Given the description of an element on the screen output the (x, y) to click on. 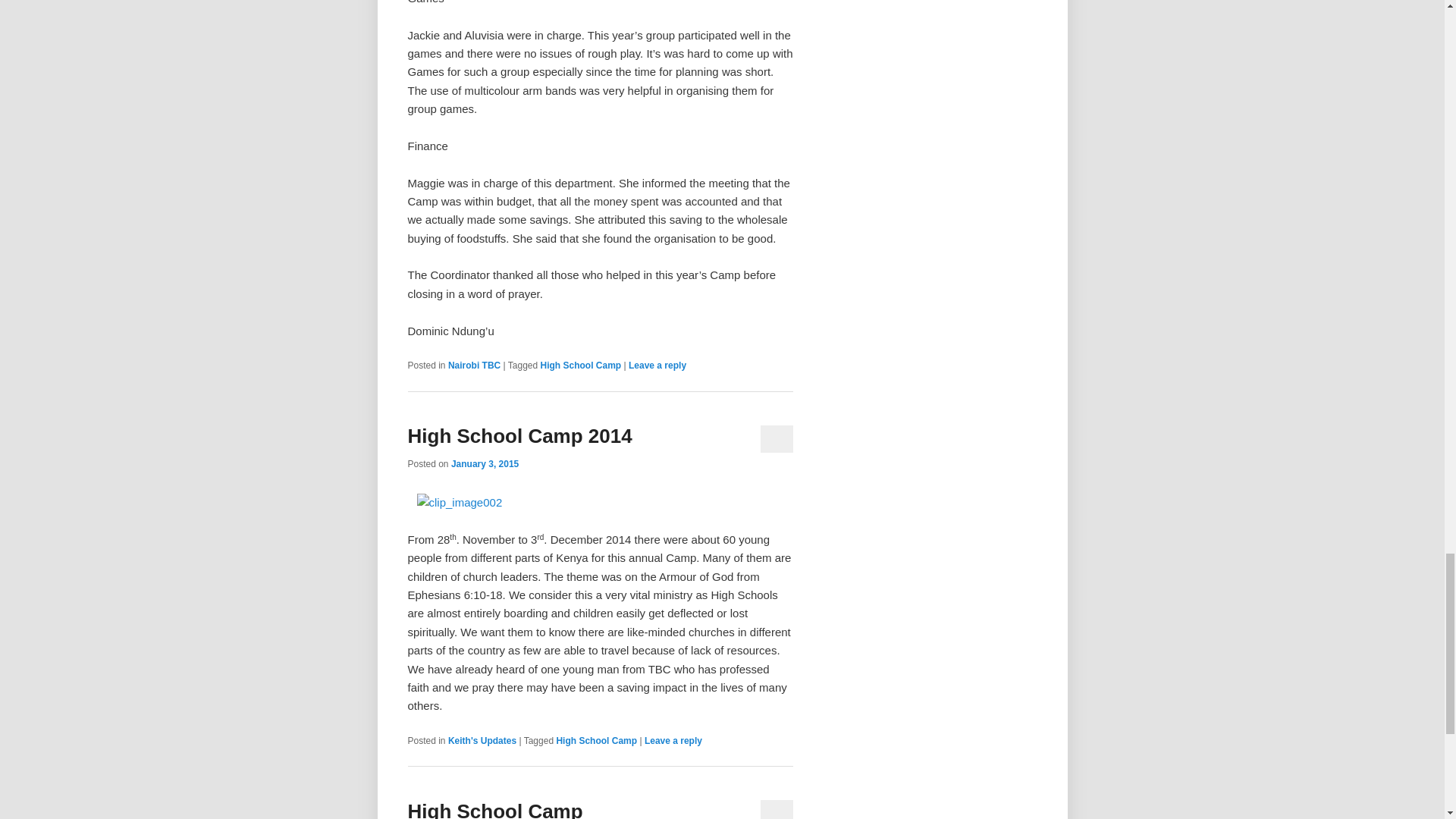
Permalink to High School Camp (495, 809)
Permalink to High School Camp 2014 (519, 436)
11:42 am (484, 463)
